Given the description of an element on the screen output the (x, y) to click on. 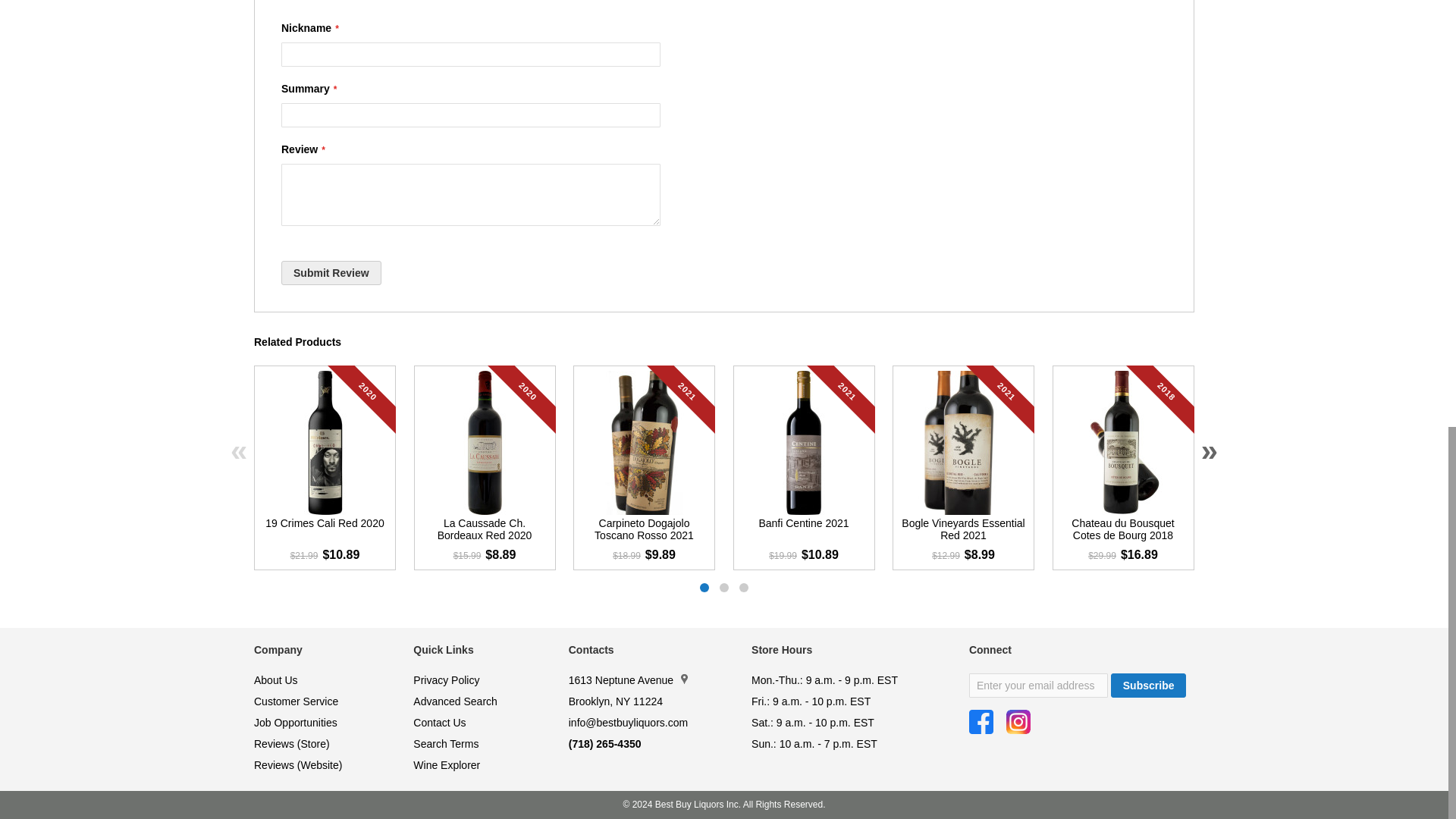
19 Crimes Cali Red 2020 (324, 531)
